Given the description of an element on the screen output the (x, y) to click on. 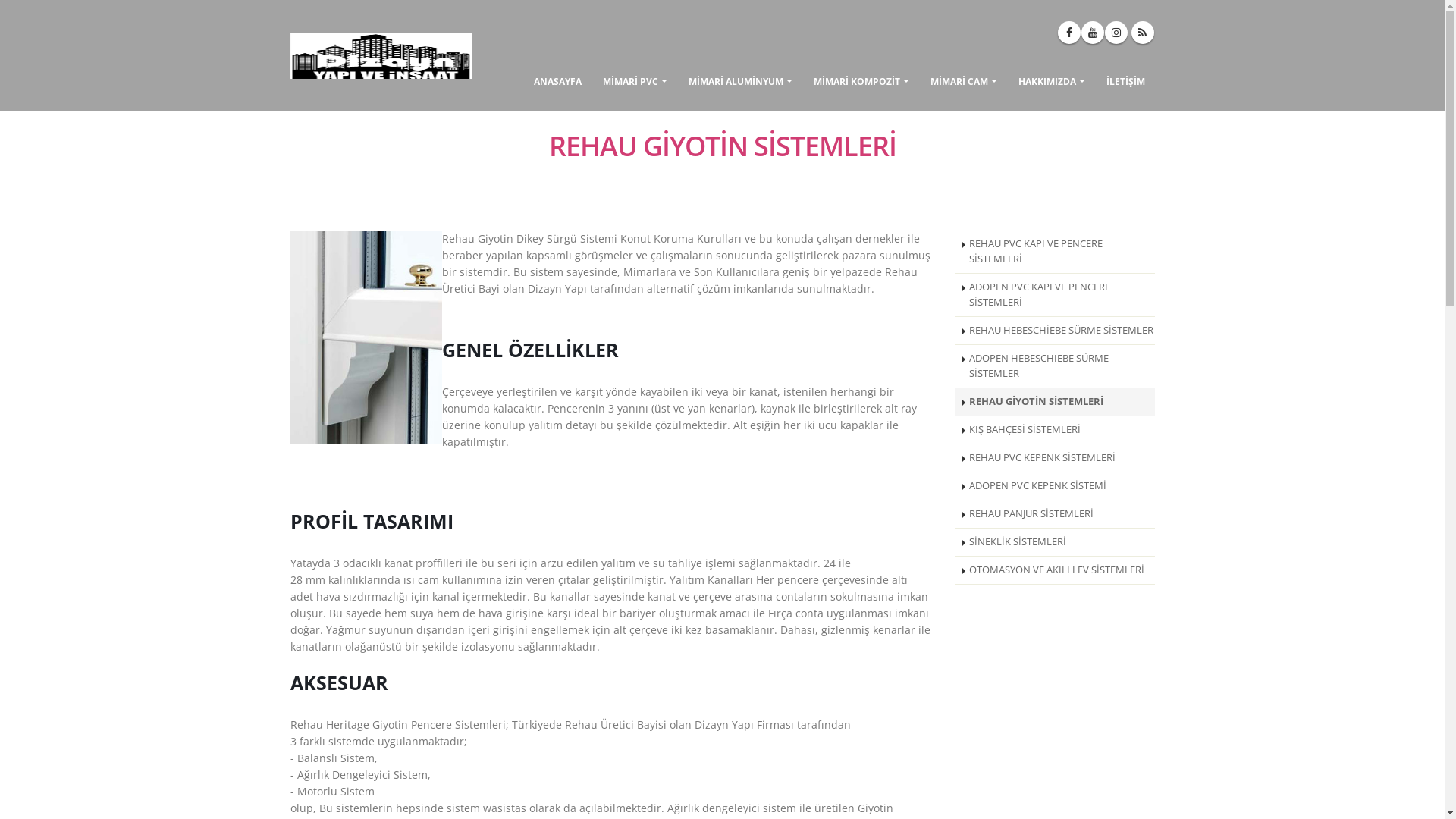
Instagram Element type: hover (1115, 32)
RSS Element type: hover (1142, 32)
Facebook Element type: hover (1068, 32)
Youtube Element type: hover (1092, 32)
HAKKIMIZDA Element type: text (1051, 79)
ANASAYFA Element type: text (556, 79)
